Given the description of an element on the screen output the (x, y) to click on. 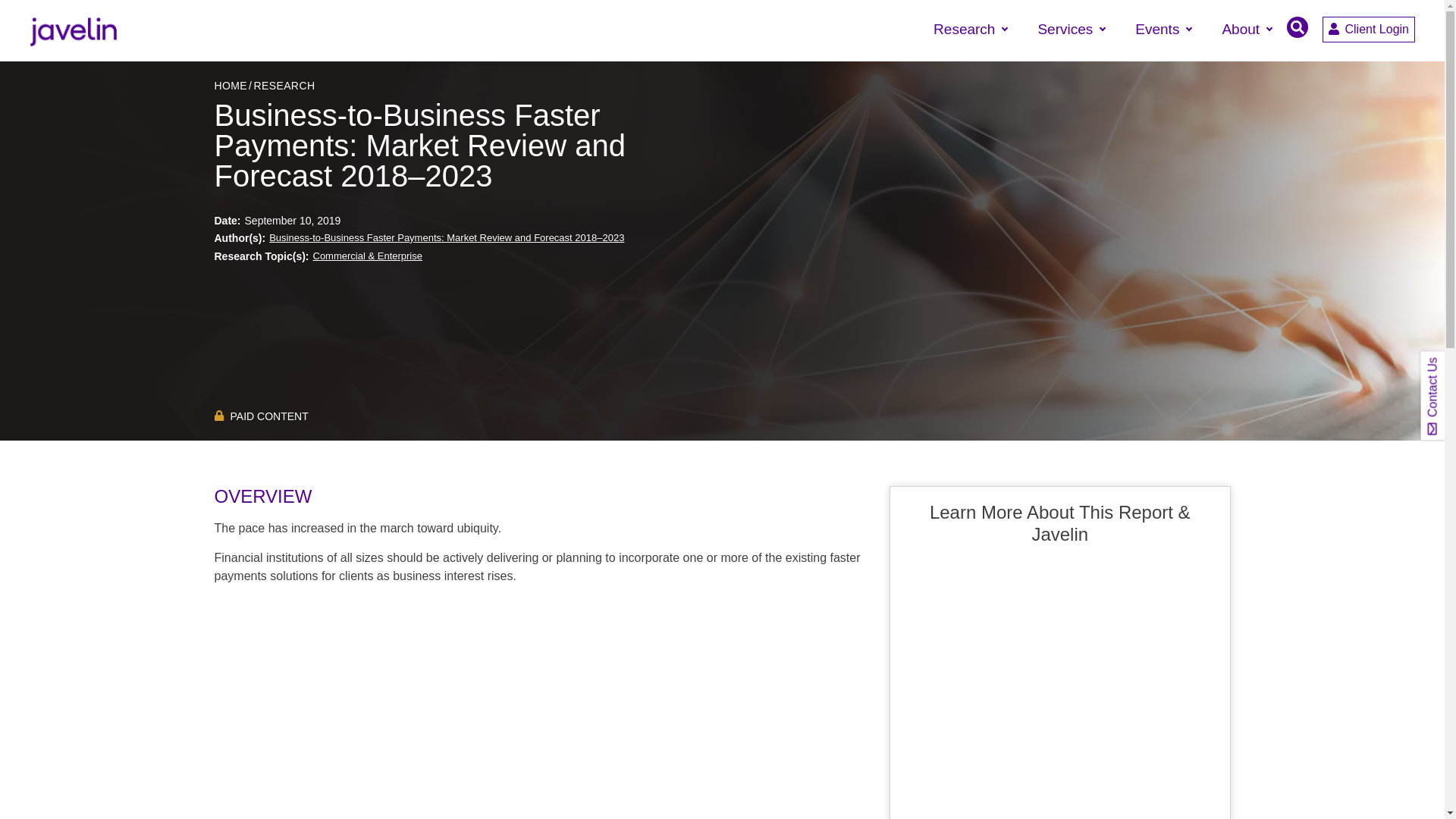
Skip to main content (721, 1)
Form 0 (1059, 690)
Home (72, 29)
